Given the description of an element on the screen output the (x, y) to click on. 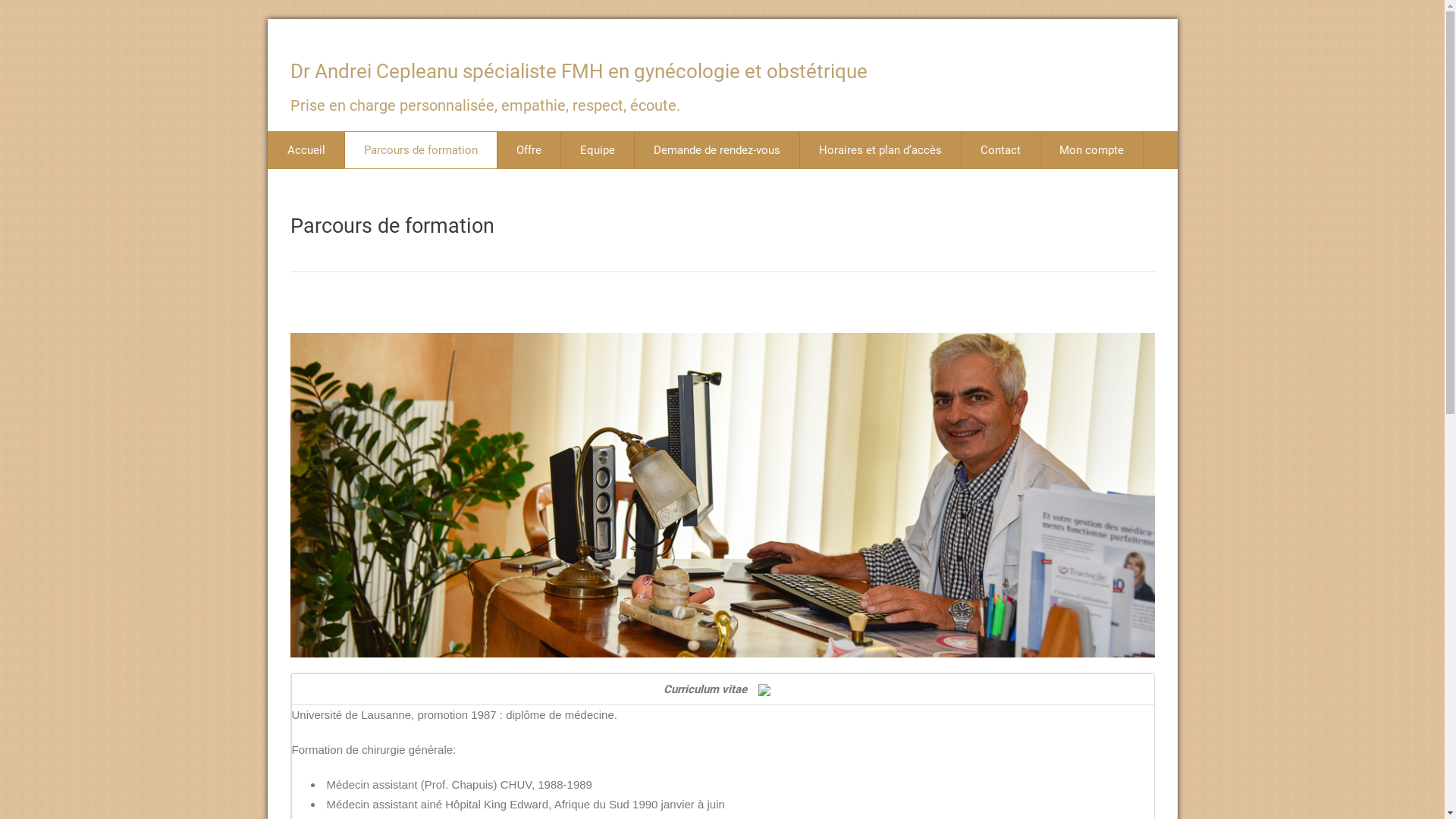
Accueil Element type: text (306, 149)
Offre Element type: text (529, 149)
Contact Element type: text (1000, 149)
Demande de rendez-vous Element type: text (716, 149)
Equipe Element type: text (597, 149)
Mon compte Element type: text (1091, 149)
Parcours de formation Element type: text (391, 225)
Parcours de formation Element type: text (420, 149)
